Given the description of an element on the screen output the (x, y) to click on. 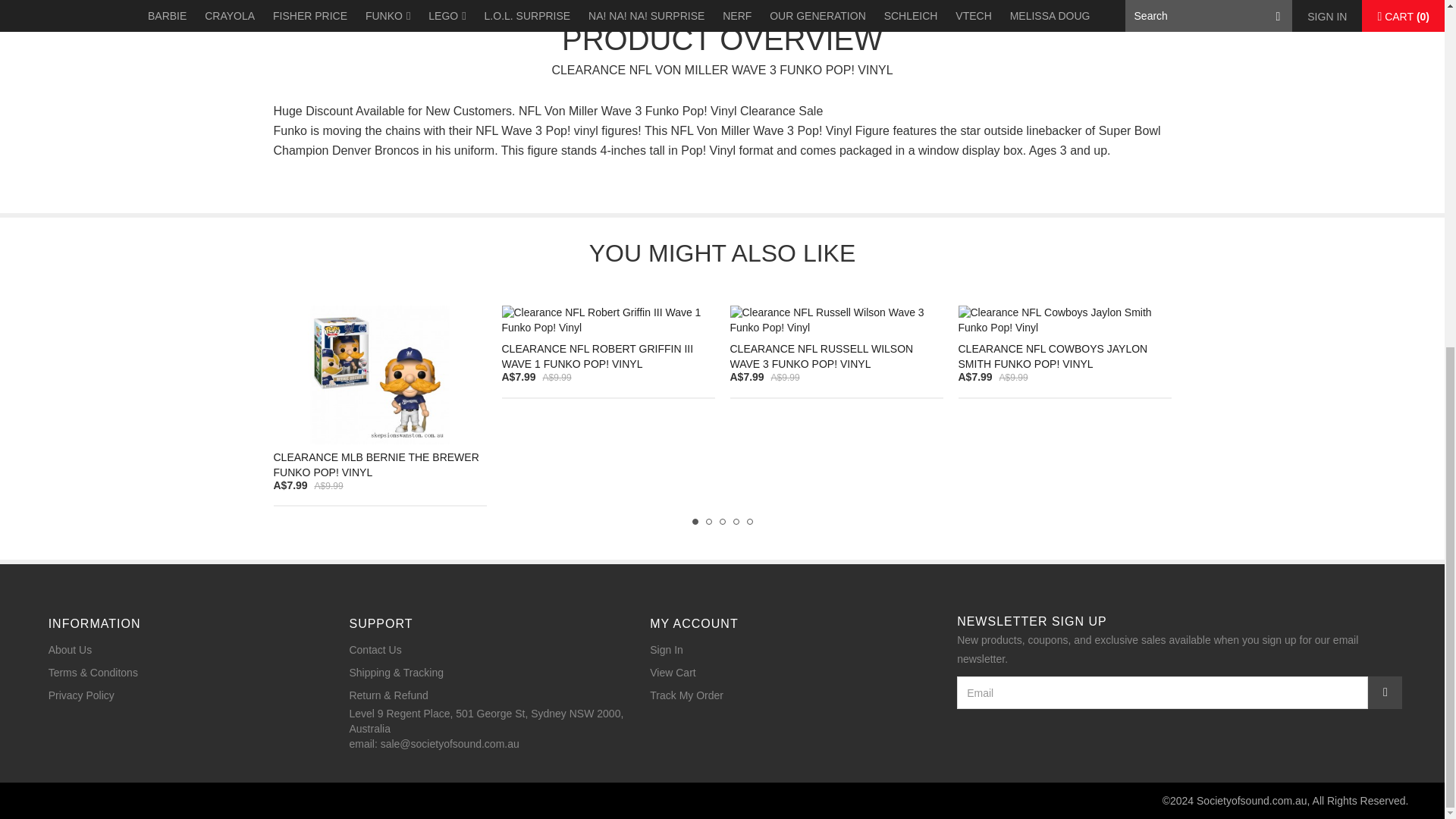
Clearance NFL Cowboys Jaylon Smith Funko Pop! Vinyl (1065, 320)
Clearance MLB Bernie The Brewer Funko Pop! Vinyl (379, 374)
Clearance NFL Robert Griffin III Wave 1 Funko Pop! Vinyl (608, 320)
Clearance NFL Russell Wilson Wave 3 Funko Pop! Vinyl (835, 320)
